Given the description of an element on the screen output the (x, y) to click on. 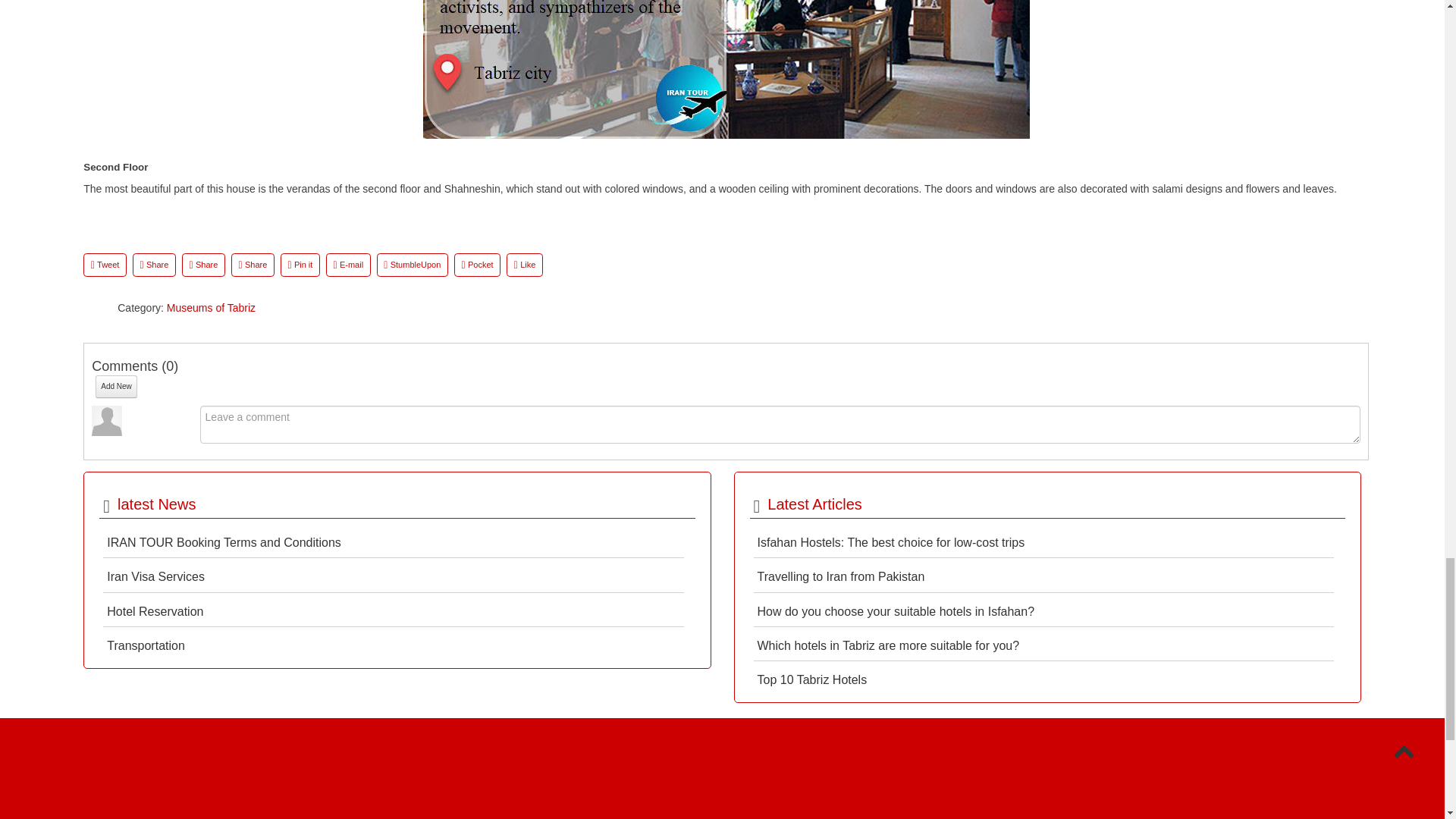
Add New (116, 386)
Second floor  of Tabriz Constitution House (726, 69)
